Given the description of an element on the screen output the (x, y) to click on. 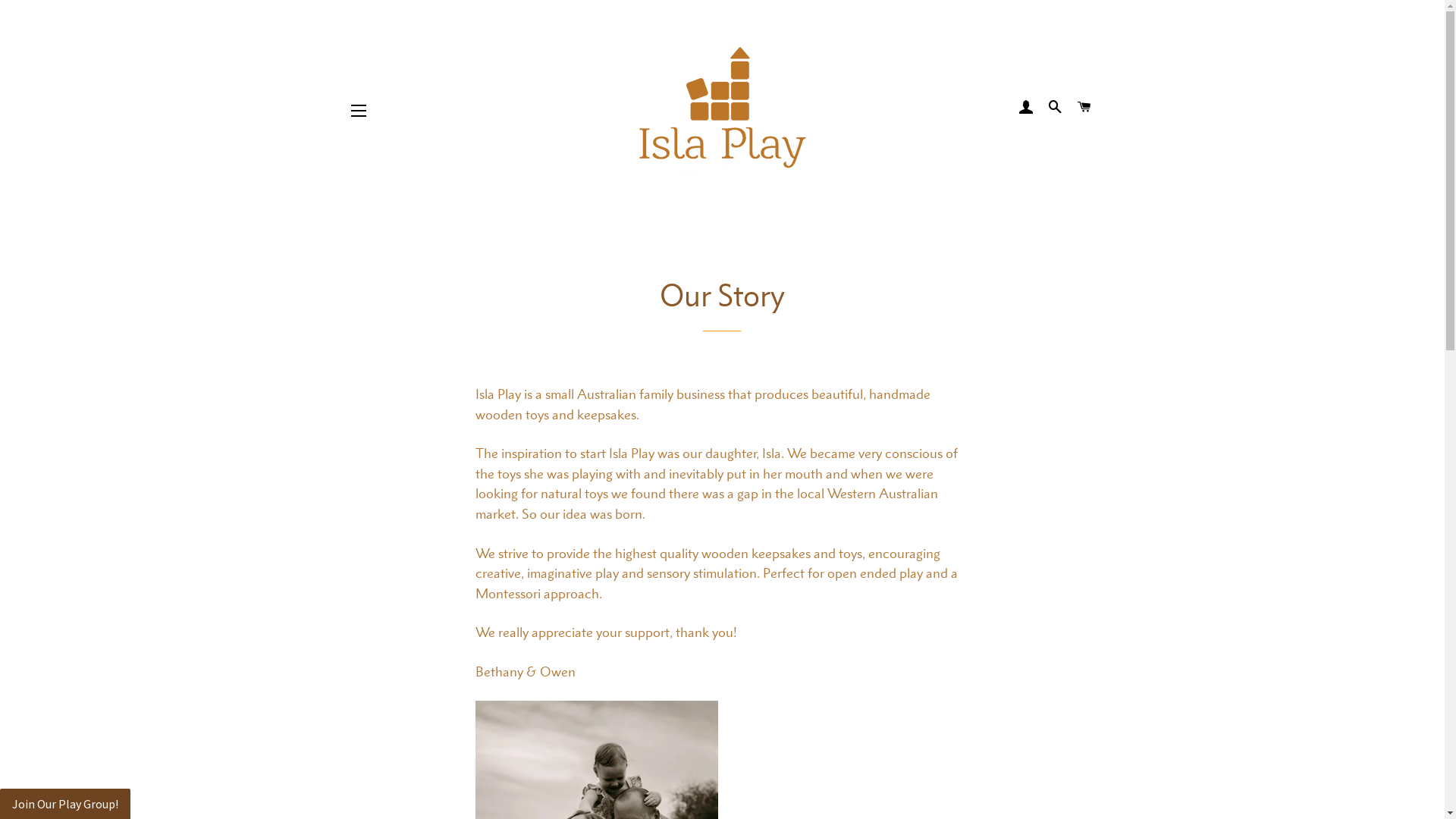
SEARCH Element type: text (1055, 106)
SITE NAVIGATION Element type: text (358, 109)
LOG IN Element type: text (1025, 106)
CART Element type: text (1084, 106)
